Given the description of an element on the screen output the (x, y) to click on. 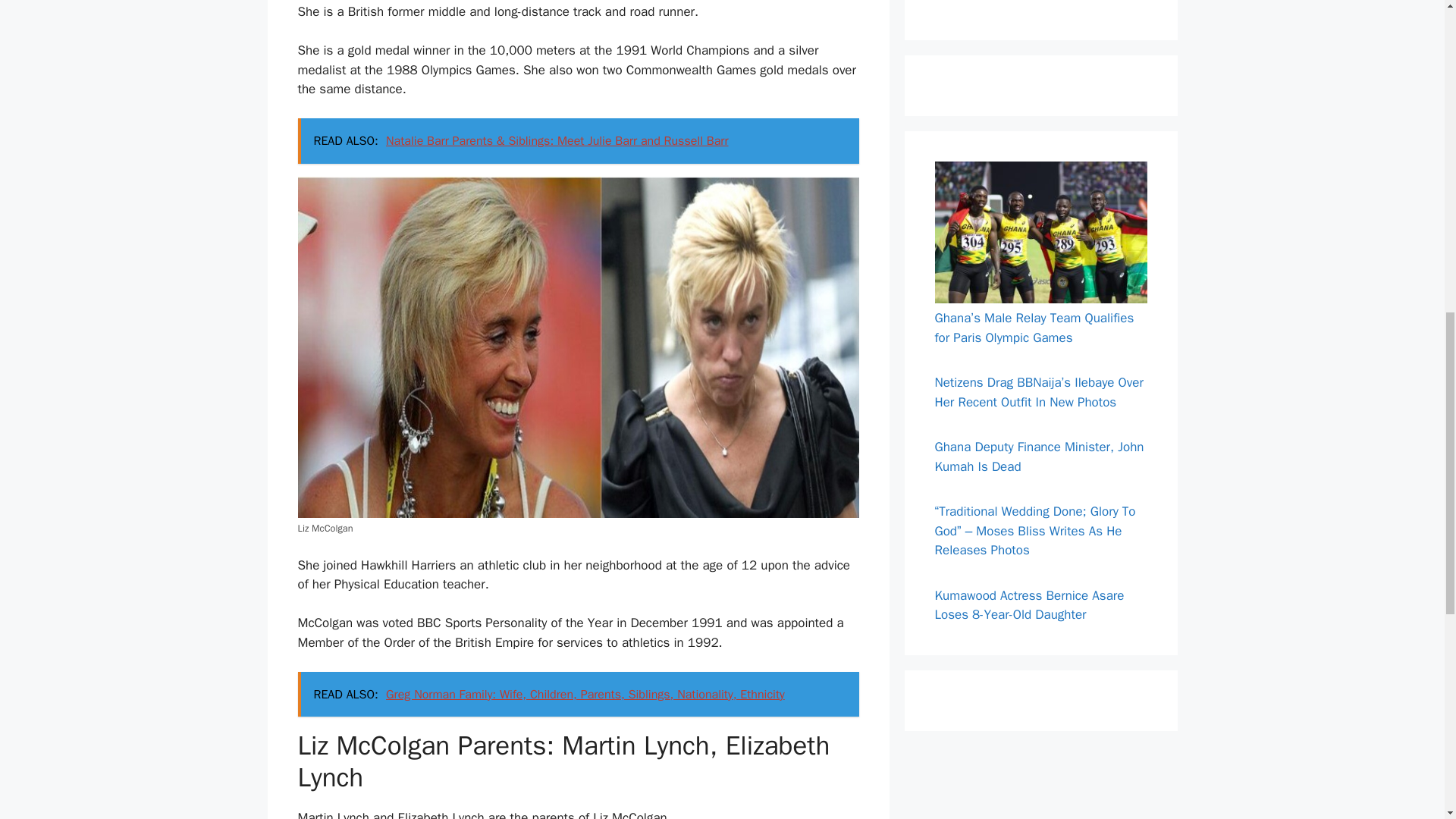
Ghana Deputy Finance Minister, John Kumah Is Dead (1038, 456)
Kumawood Actress Bernice Asare Loses 8-Year-Old Daughter (1029, 605)
